Given the description of an element on the screen output the (x, y) to click on. 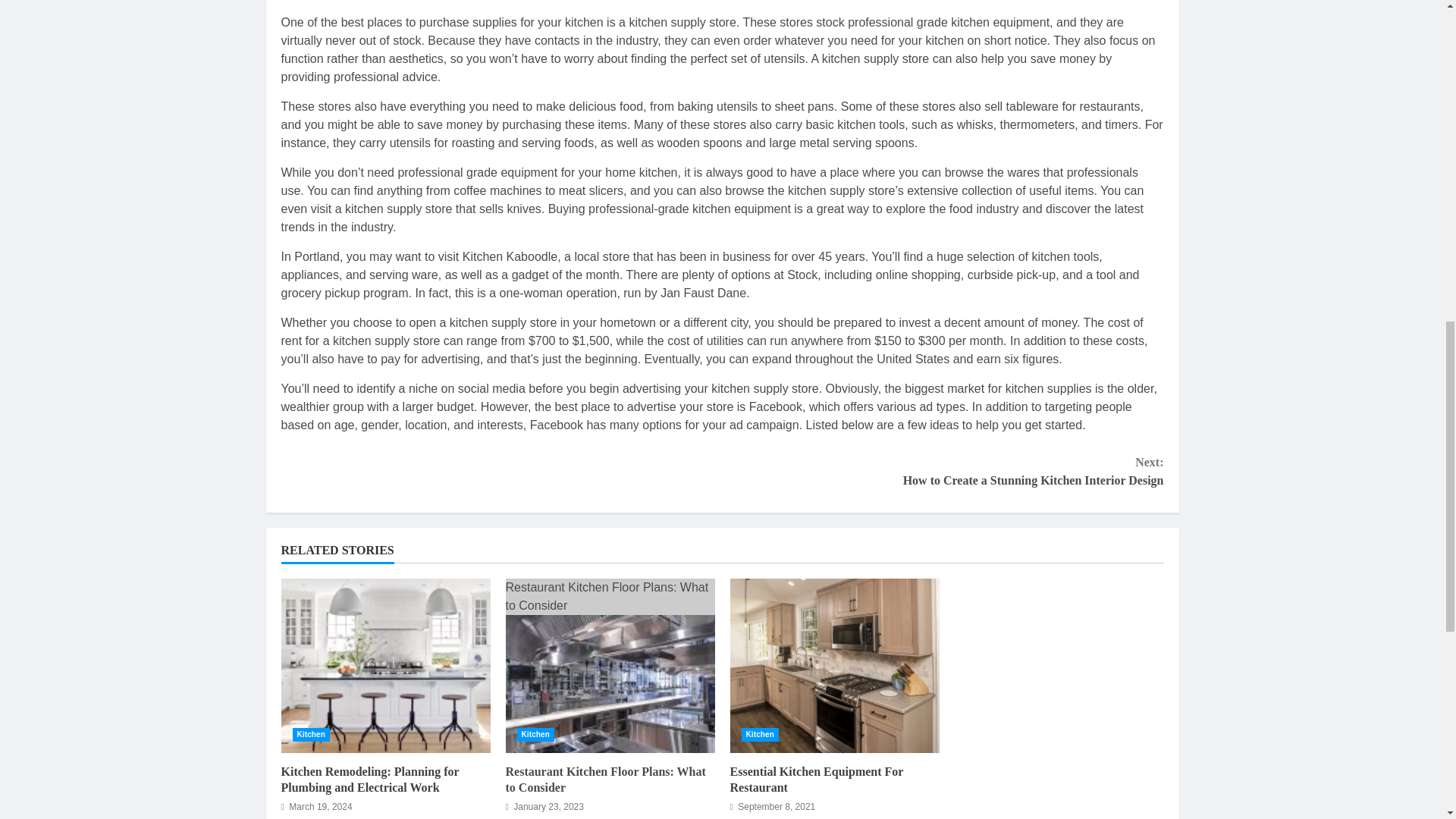
Kitchen (535, 735)
Kitchen (311, 735)
Essential Kitchen Equipment For Restaurant (834, 665)
Kitchen (759, 735)
Essential Kitchen Equipment For Restaurant (815, 778)
